Given the description of an element on the screen output the (x, y) to click on. 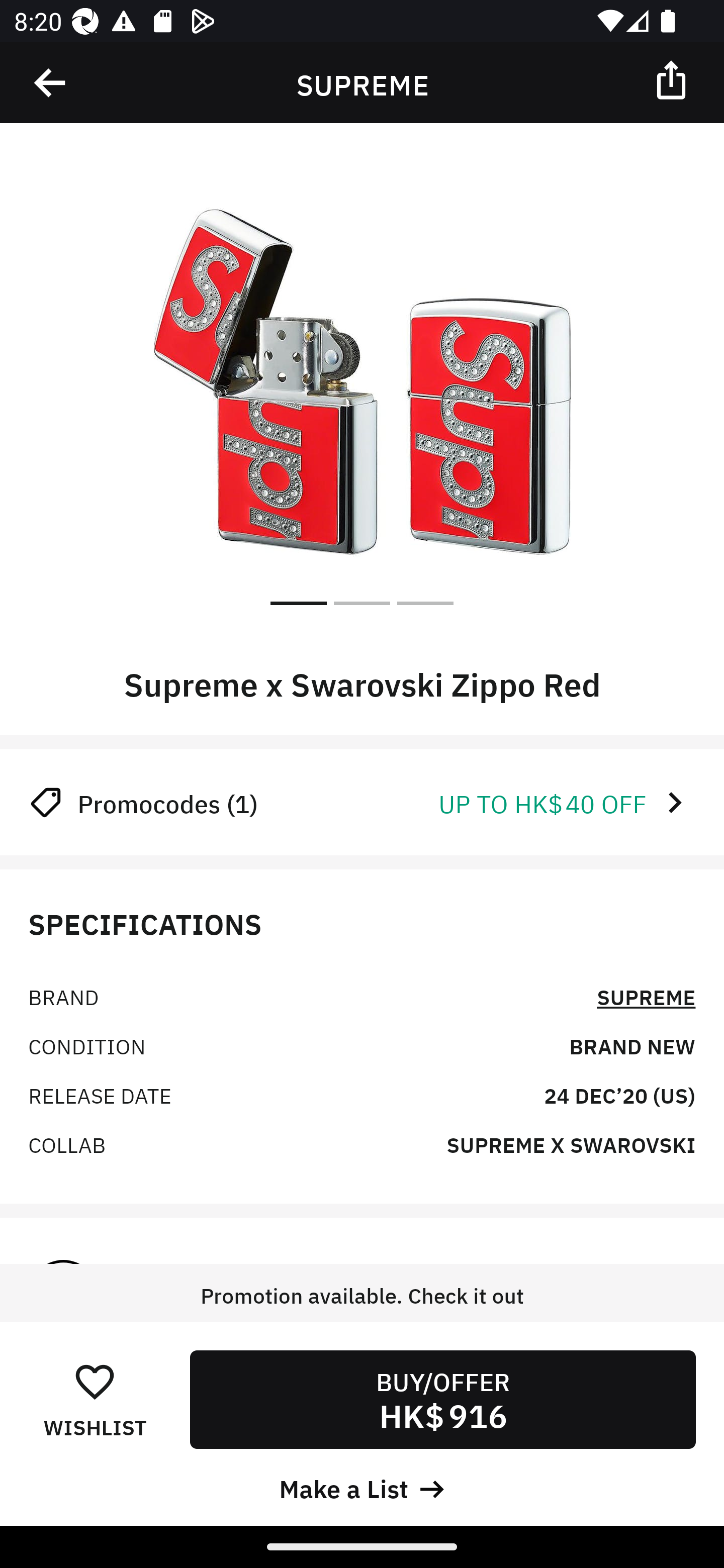
 (50, 83)
 (672, 79)
Promocodes (1) UP TO HK$ 40 OFF  (361, 801)
SUPREME (645, 995)
BRAND NEW (632, 1045)
24 DEC’20 (US) (619, 1094)
SUPREME X SWAROVSKI (570, 1143)
BUY/OFFER HK$ 916 (442, 1399)
󰋕 (94, 1380)
Make a List (361, 1486)
